Given the description of an element on the screen output the (x, y) to click on. 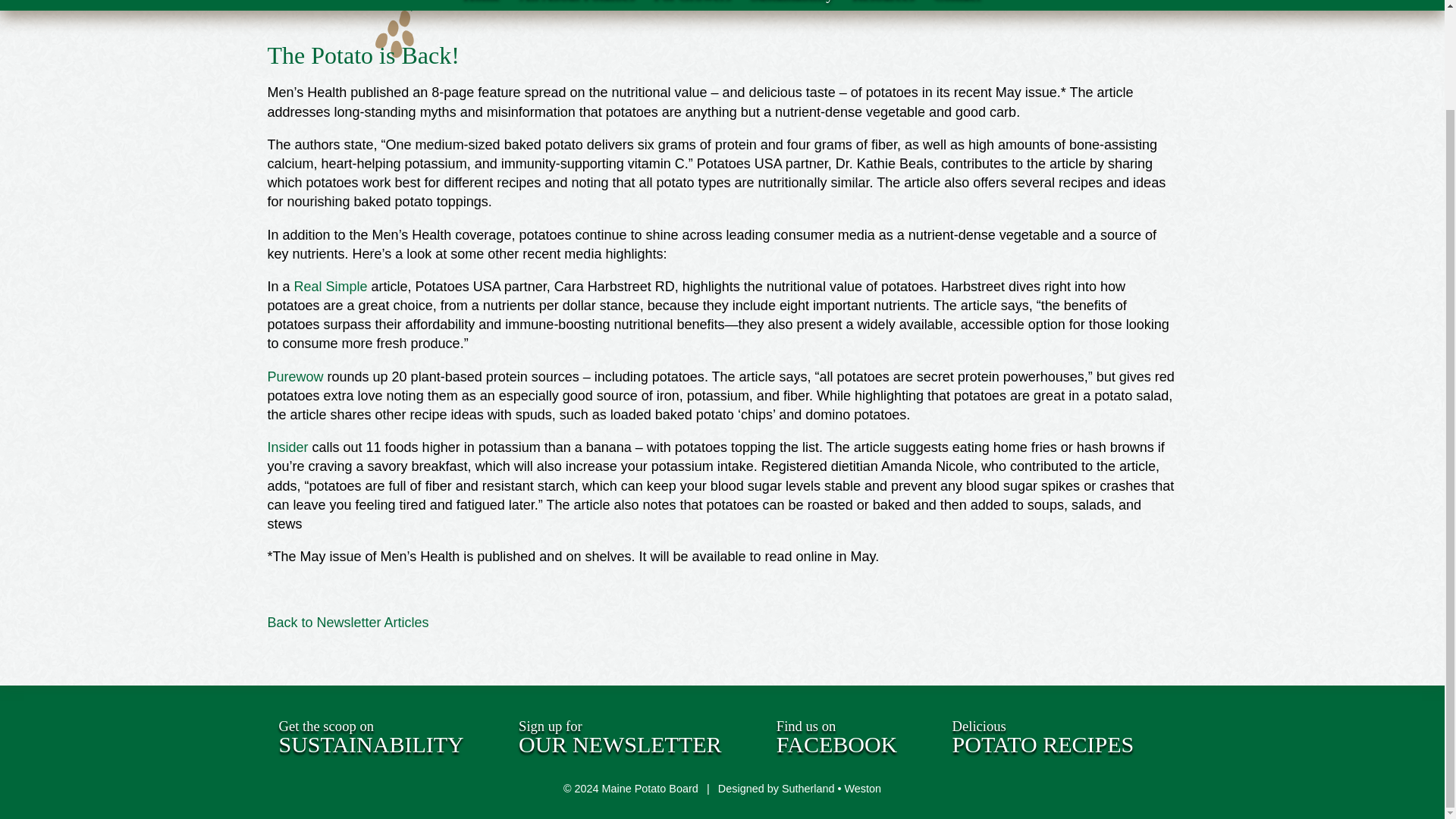
Real Simple (331, 286)
Purewow (294, 376)
For Growers (692, 5)
Resources (882, 5)
All About Potatoes (836, 737)
Home (577, 5)
Contact (481, 5)
Back to Newsletter Articles (957, 5)
Sustainability (371, 737)
Insider (1043, 737)
